Given the description of an element on the screen output the (x, y) to click on. 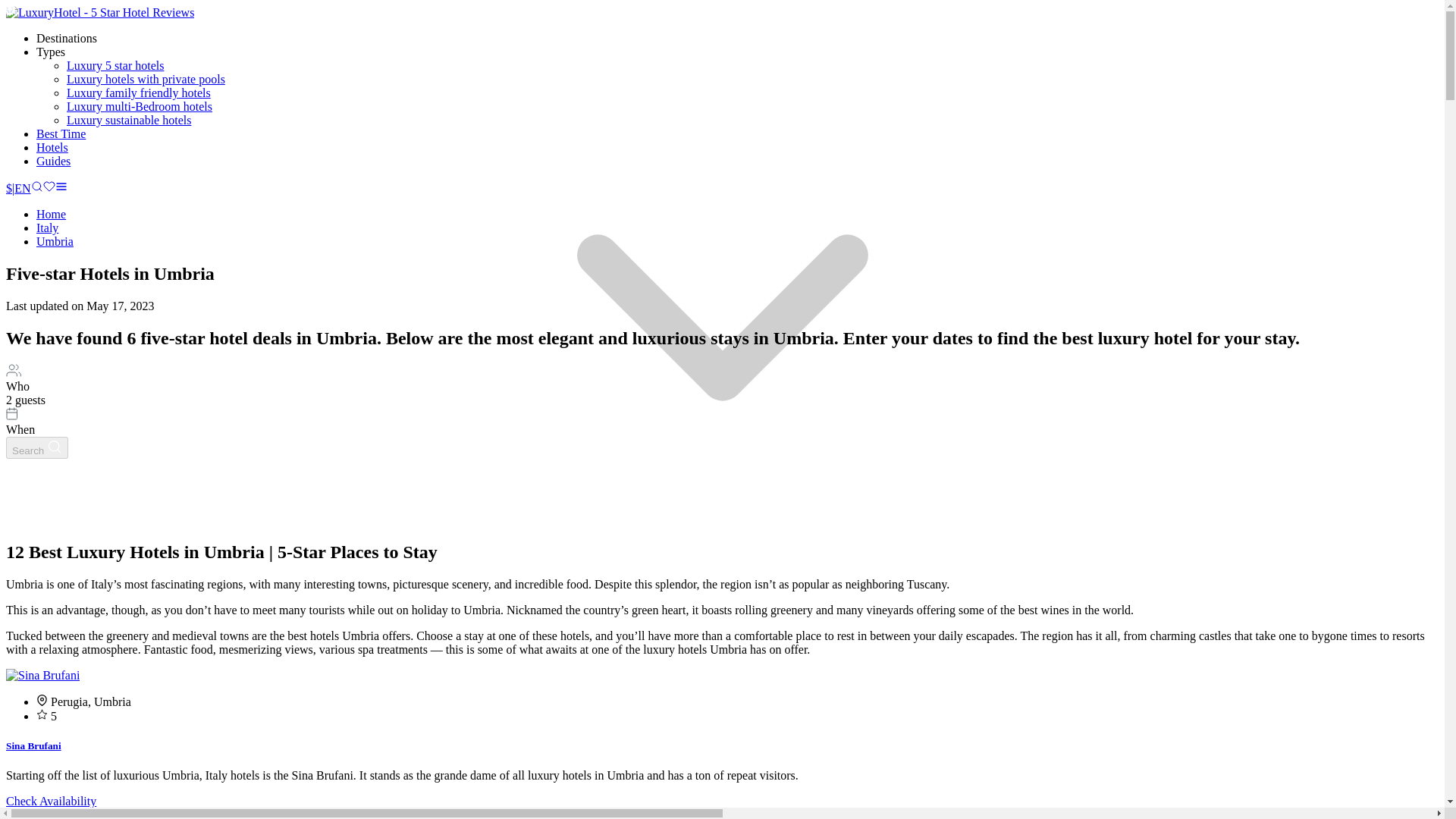
Guides (52, 160)
Italy (47, 227)
Hotels (52, 146)
Luxury sustainable hotels (128, 119)
Best Time (60, 133)
Destinations (66, 38)
Home (50, 214)
Umbria (55, 241)
Types (50, 51)
Luxury family friendly hotels (138, 92)
